Given the description of an element on the screen output the (x, y) to click on. 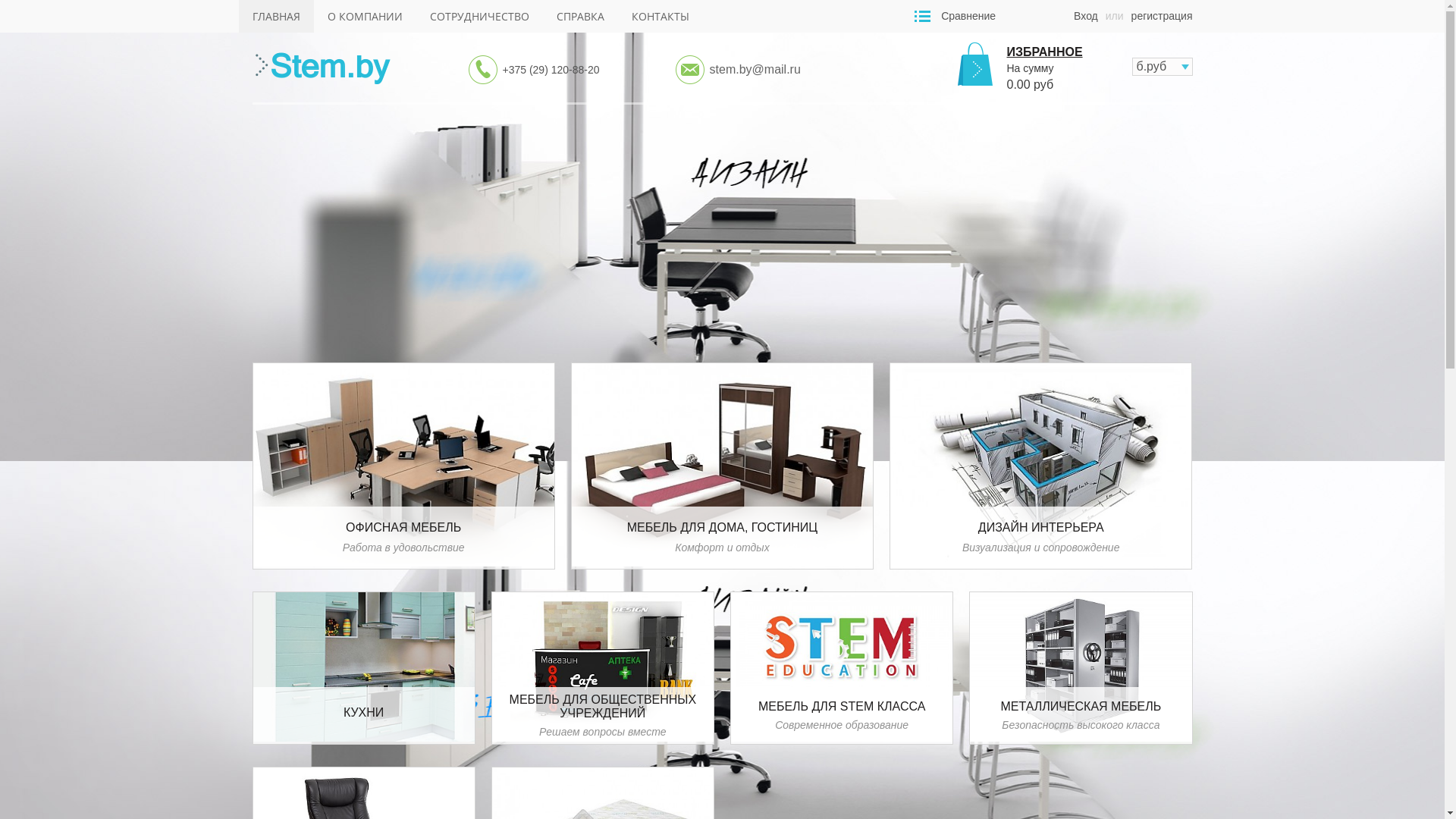
stem.by@mail.ru Element type: text (754, 69)
